Given the description of an element on the screen output the (x, y) to click on. 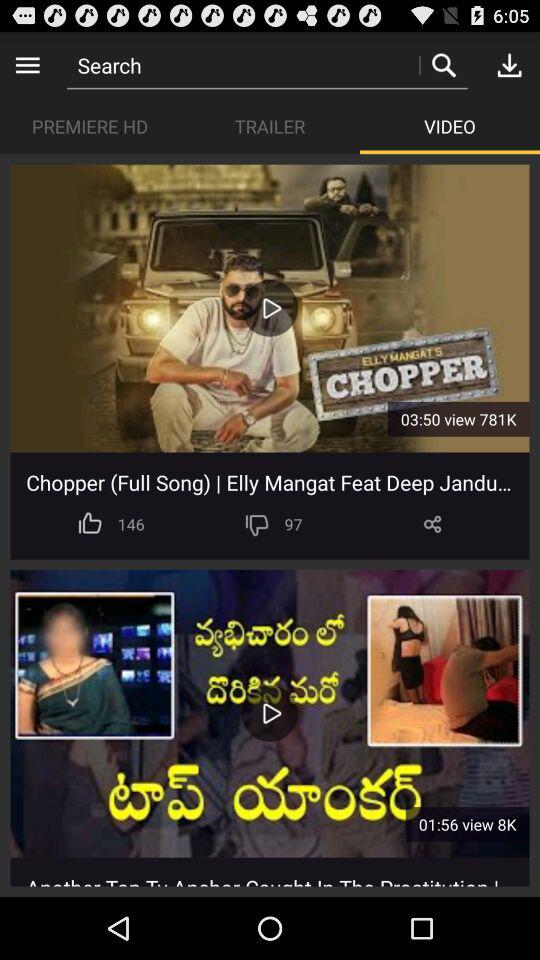
turn off 97 icon (293, 523)
